Given the description of an element on the screen output the (x, y) to click on. 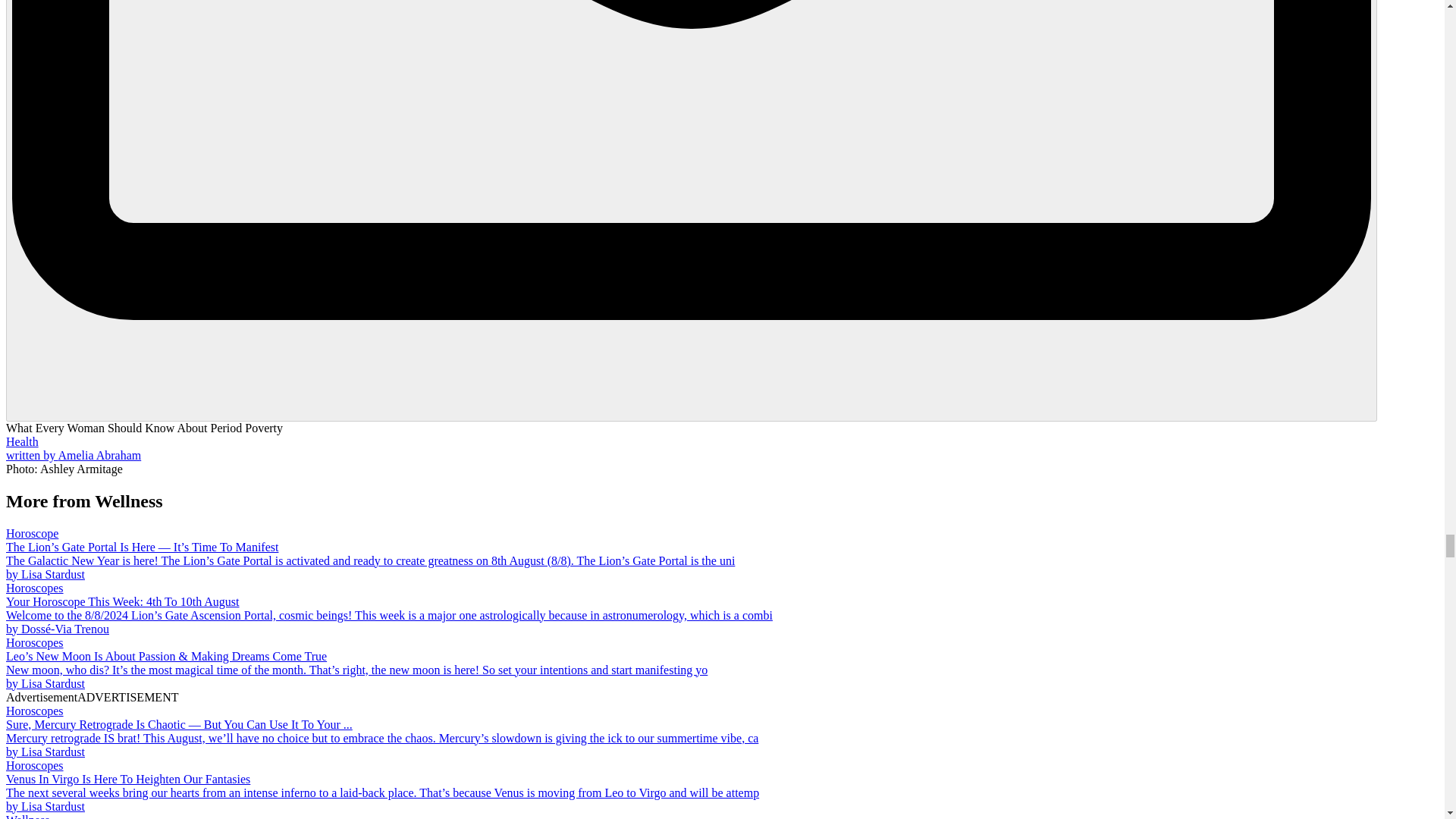
Health (22, 440)
written by Amelia Abraham (73, 454)
